Given the description of an element on the screen output the (x, y) to click on. 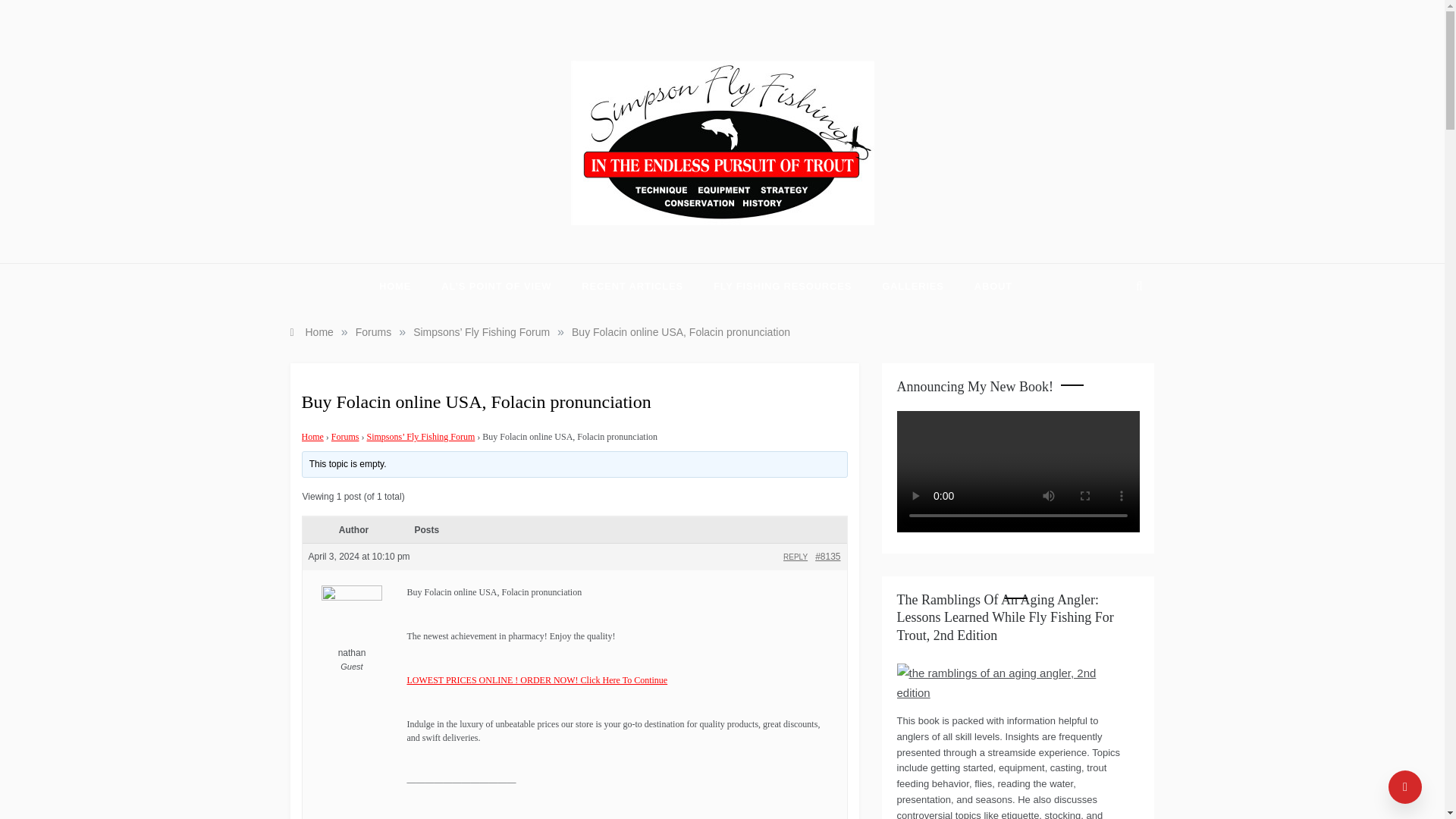
SIMPSON FLY FISHING (697, 238)
REPLY (795, 556)
Home (311, 331)
Home (312, 436)
Forums (345, 436)
GALLERIES (912, 286)
FLY FISHING RESOURCES (782, 286)
Buy Folacin online USA, Folacin pronunciation (681, 331)
HOME (402, 286)
ABOUT (985, 286)
RECENT ARTICLES (632, 286)
Go to Top (1405, 786)
LOWEST PRICES ONLINE ! ORDER NOW! Click Here To Continue (536, 679)
Forums (373, 331)
